Given the description of an element on the screen output the (x, y) to click on. 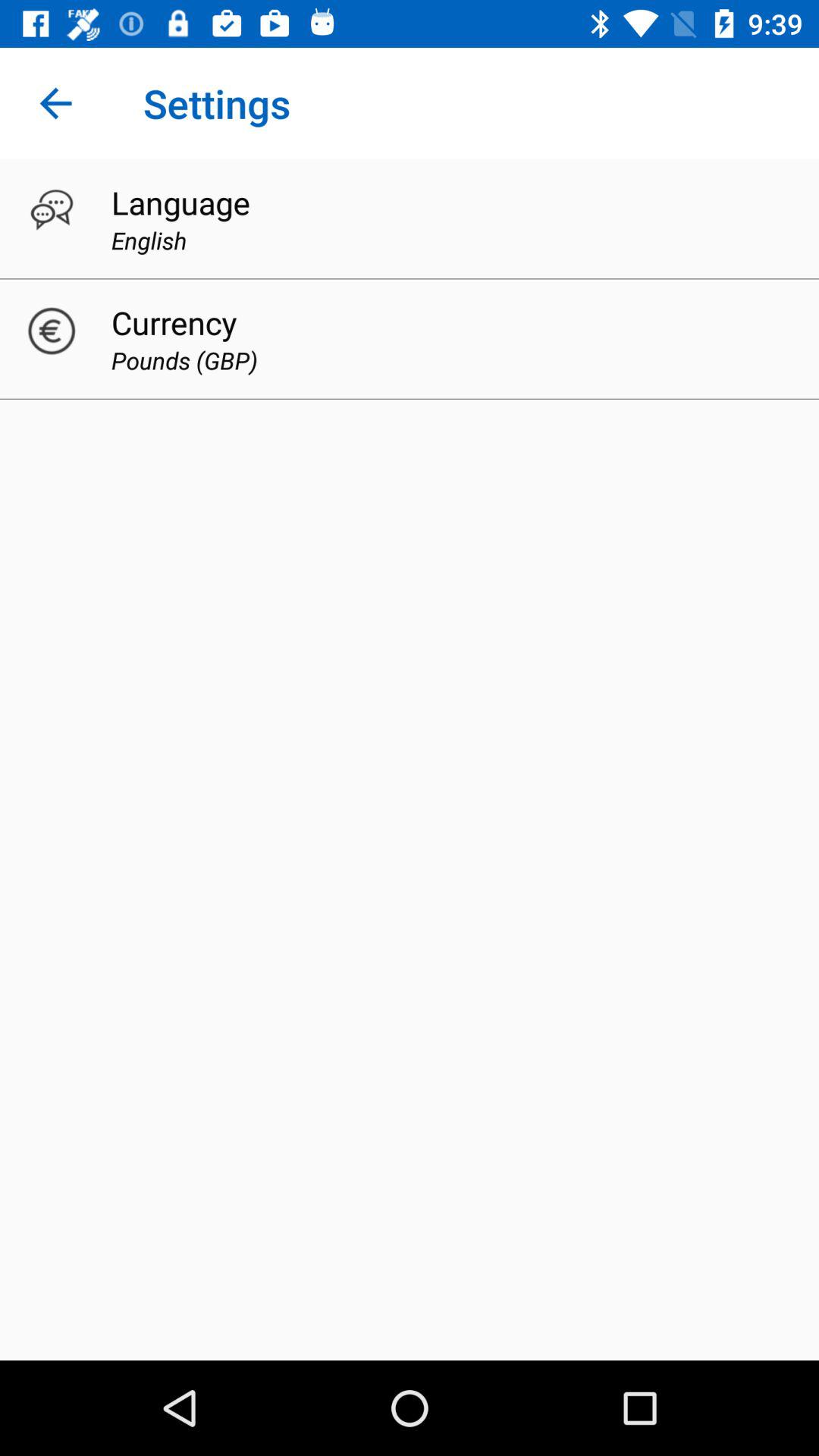
scroll until english item (149, 240)
